Given the description of an element on the screen output the (x, y) to click on. 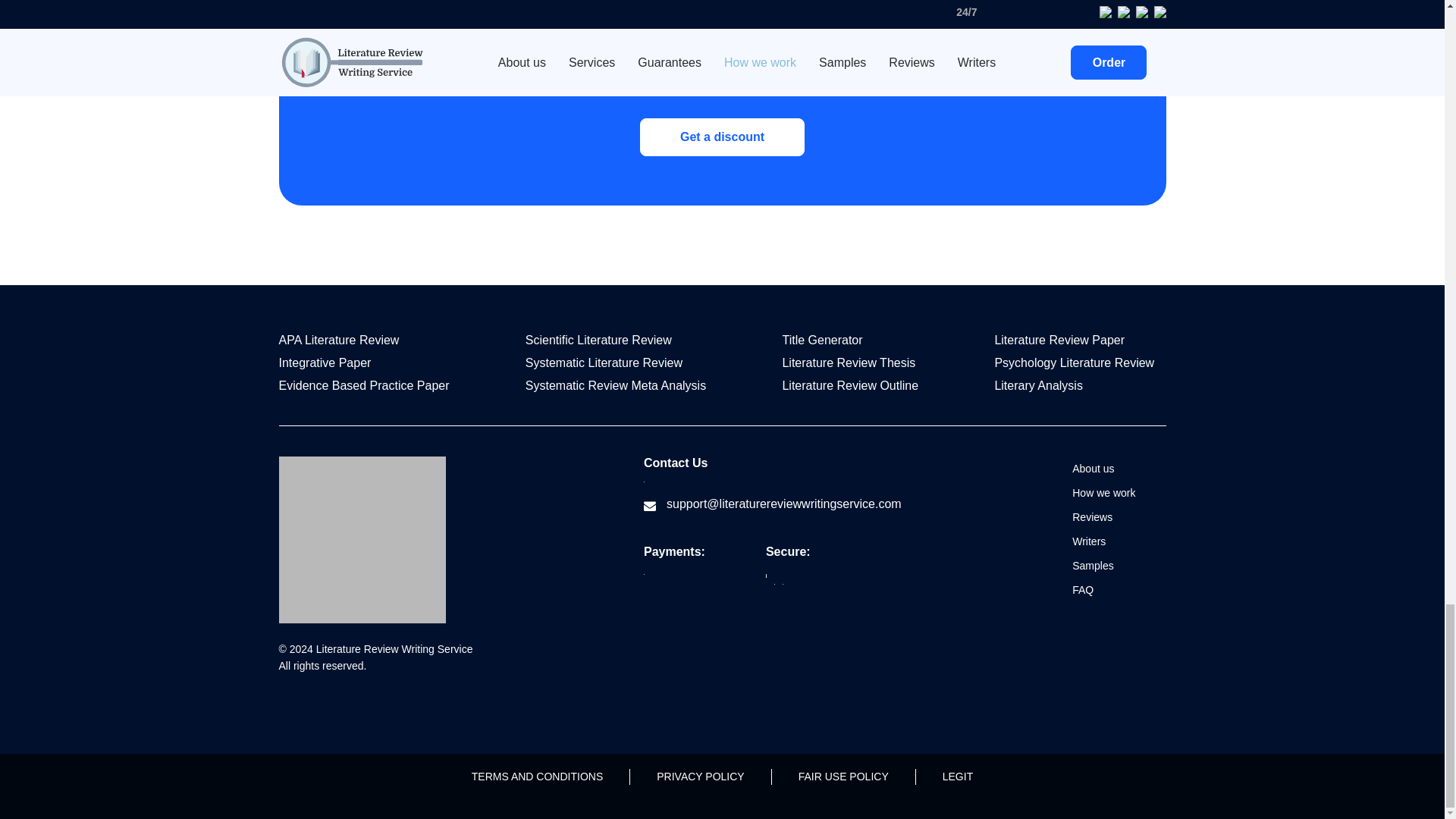
Get a discount (722, 136)
About us (1092, 468)
Writers (1088, 541)
Integrative Paper (325, 362)
Psychology Literature Review (1074, 362)
Samples (1092, 565)
Literary Analysis (1038, 385)
Systematic Review Meta Analysis (615, 385)
FAQ (1082, 589)
APA Literature Review (338, 339)
Evidence Based Practice Paper (364, 385)
Literature Review Outline (849, 385)
How we work (1103, 492)
Literature Review Paper (1059, 339)
